Given the description of an element on the screen output the (x, y) to click on. 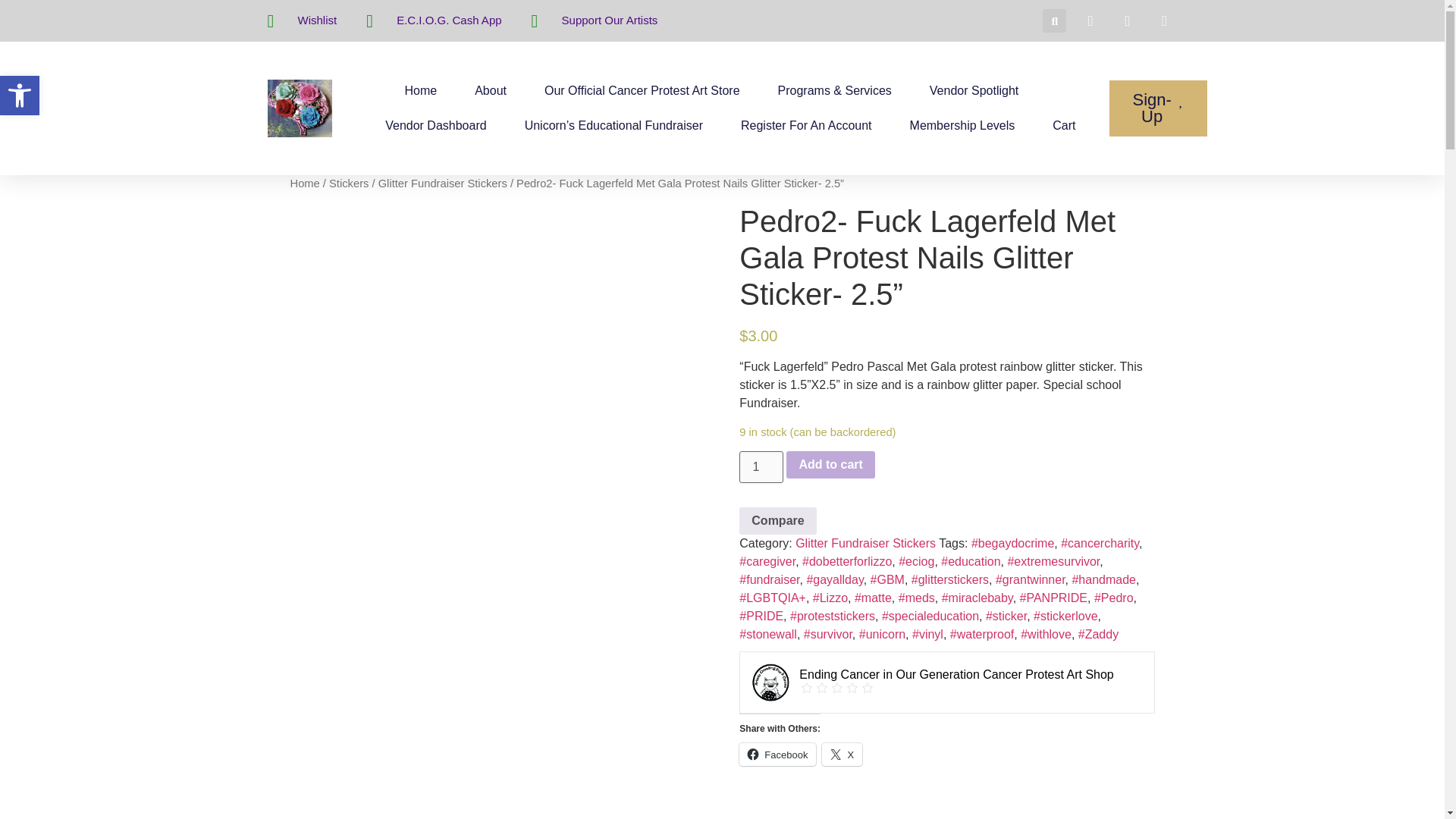
Vendor Spotlight (973, 90)
Membership Levels (962, 125)
1 (761, 467)
E.C.I.O.G. Cash App (433, 21)
Our Official Cancer Protest Art Store (641, 90)
Click to share on Facebook (777, 753)
About (490, 90)
Accessibility Tools (19, 95)
Register For An Account (806, 125)
Support Our Artists (594, 21)
